Given the description of an element on the screen output the (x, y) to click on. 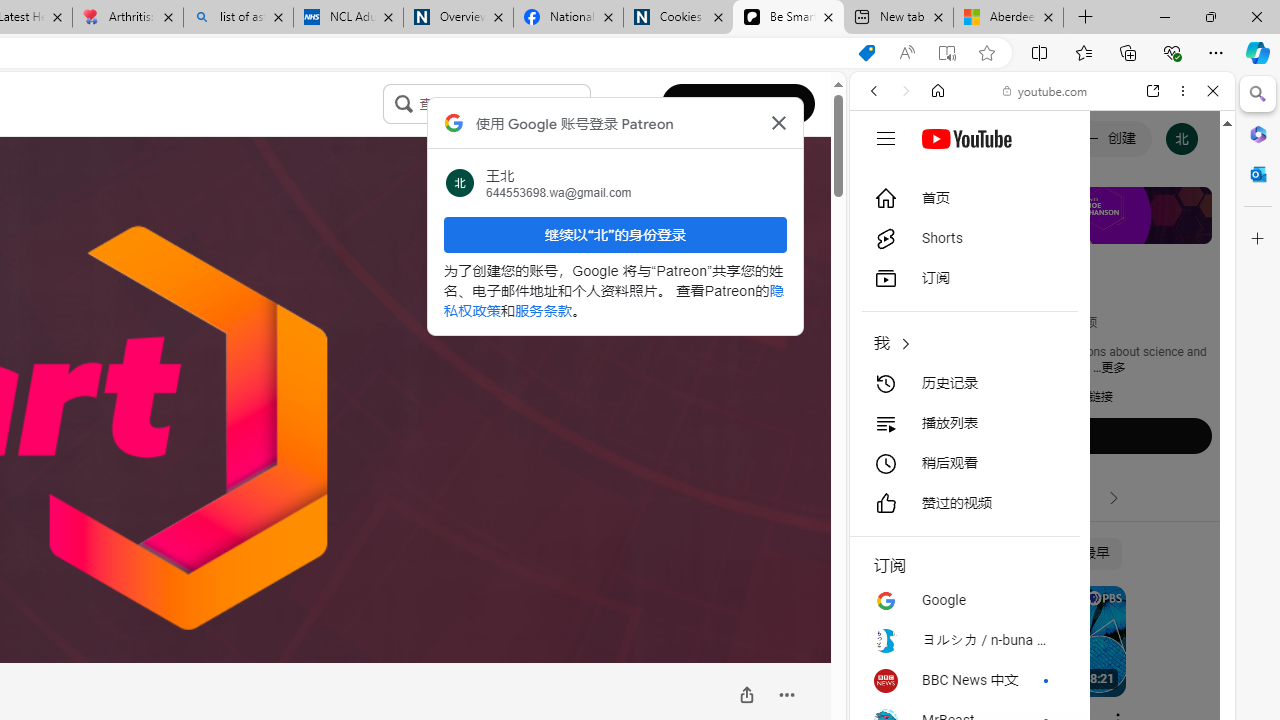
#you (1042, 445)
Shorts (1096, 497)
Class: style-scope tp-yt-iron-icon (1114, 498)
Global web icon (888, 288)
Enter Immersive Reader (F9) (946, 53)
Class: sc-gUQvok bqiJlM (585, 103)
Forward (906, 91)
Google (963, 600)
Search Filter, VIDEOS (1006, 228)
